Given the description of an element on the screen output the (x, y) to click on. 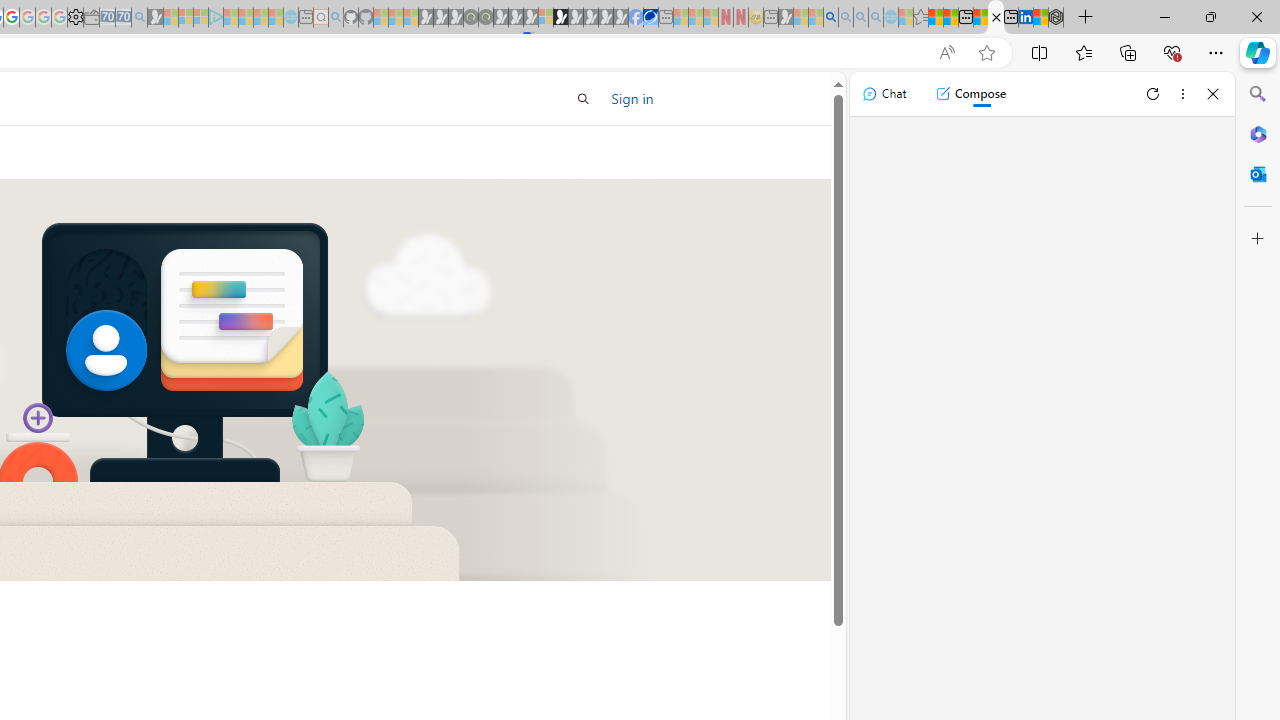
AQI & Health | AirNow.gov (650, 17)
Cheap Car Rentals - Save70.com - Sleeping (123, 17)
